Given the description of an element on the screen output the (x, y) to click on. 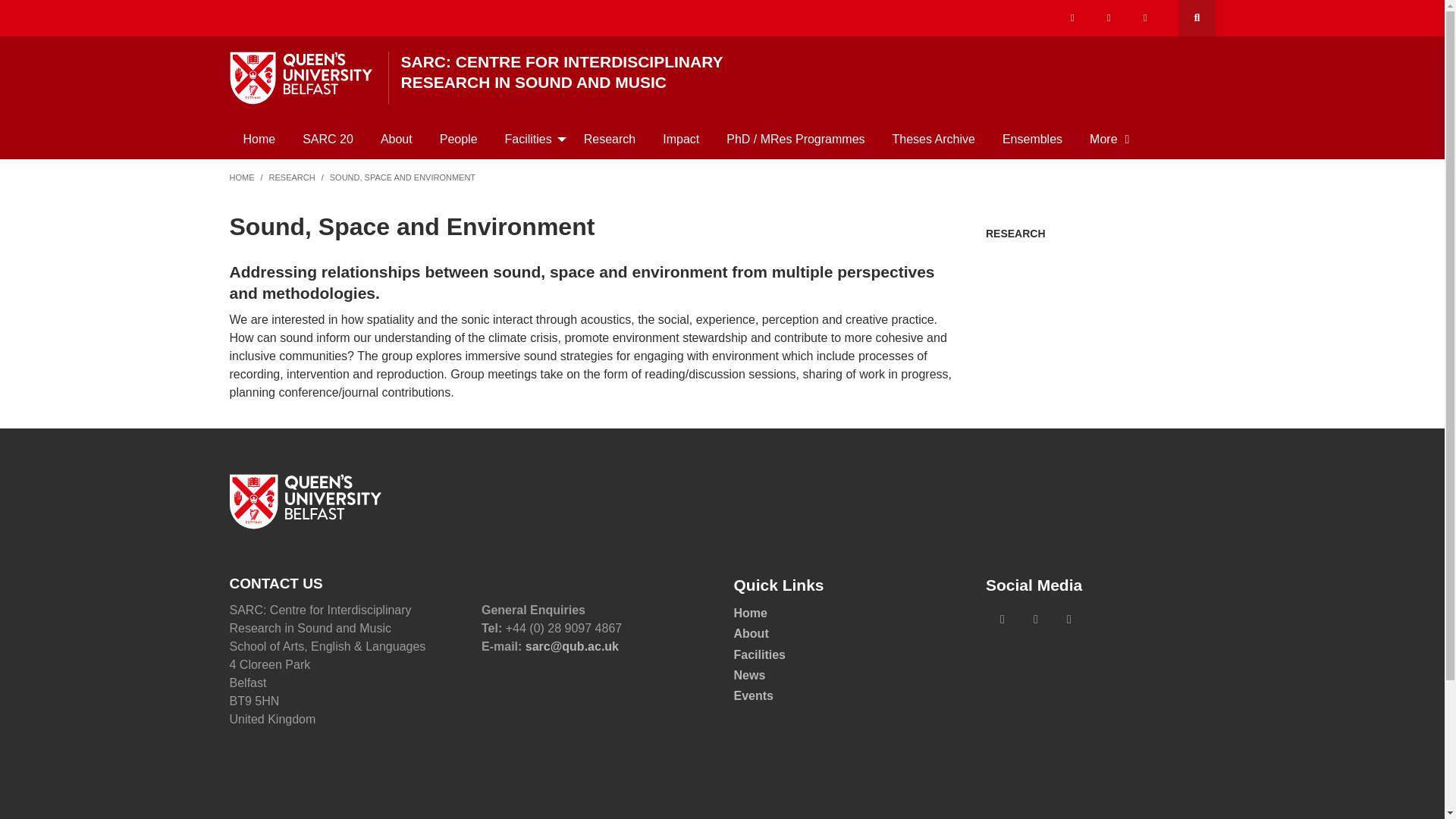
SARC 20 (327, 138)
Ensembles (1031, 138)
About (396, 138)
Our x-twitter (1072, 18)
People (459, 138)
Our youtube (1144, 18)
Theses Archive (933, 138)
Research (609, 138)
